Given the description of an element on the screen output the (x, y) to click on. 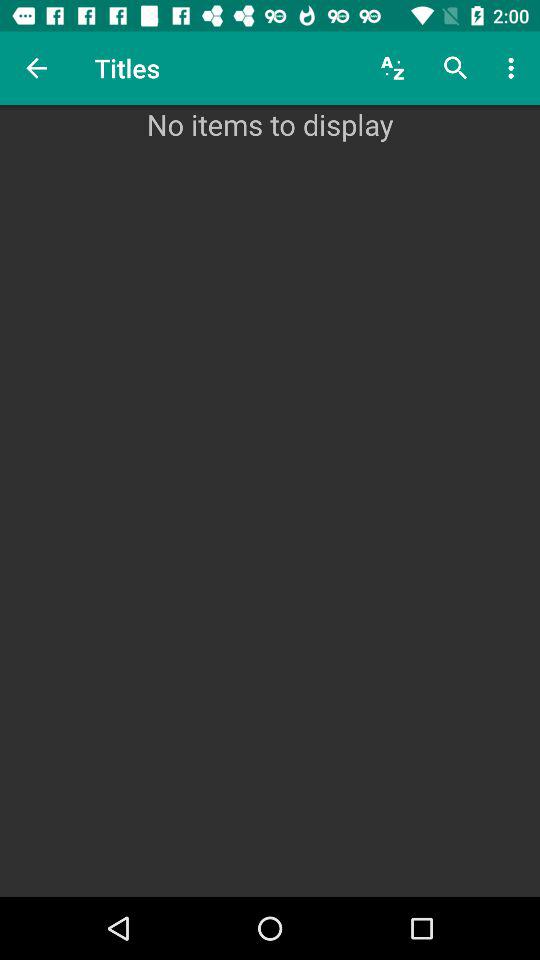
tap the item above the no items to icon (455, 67)
